Given the description of an element on the screen output the (x, y) to click on. 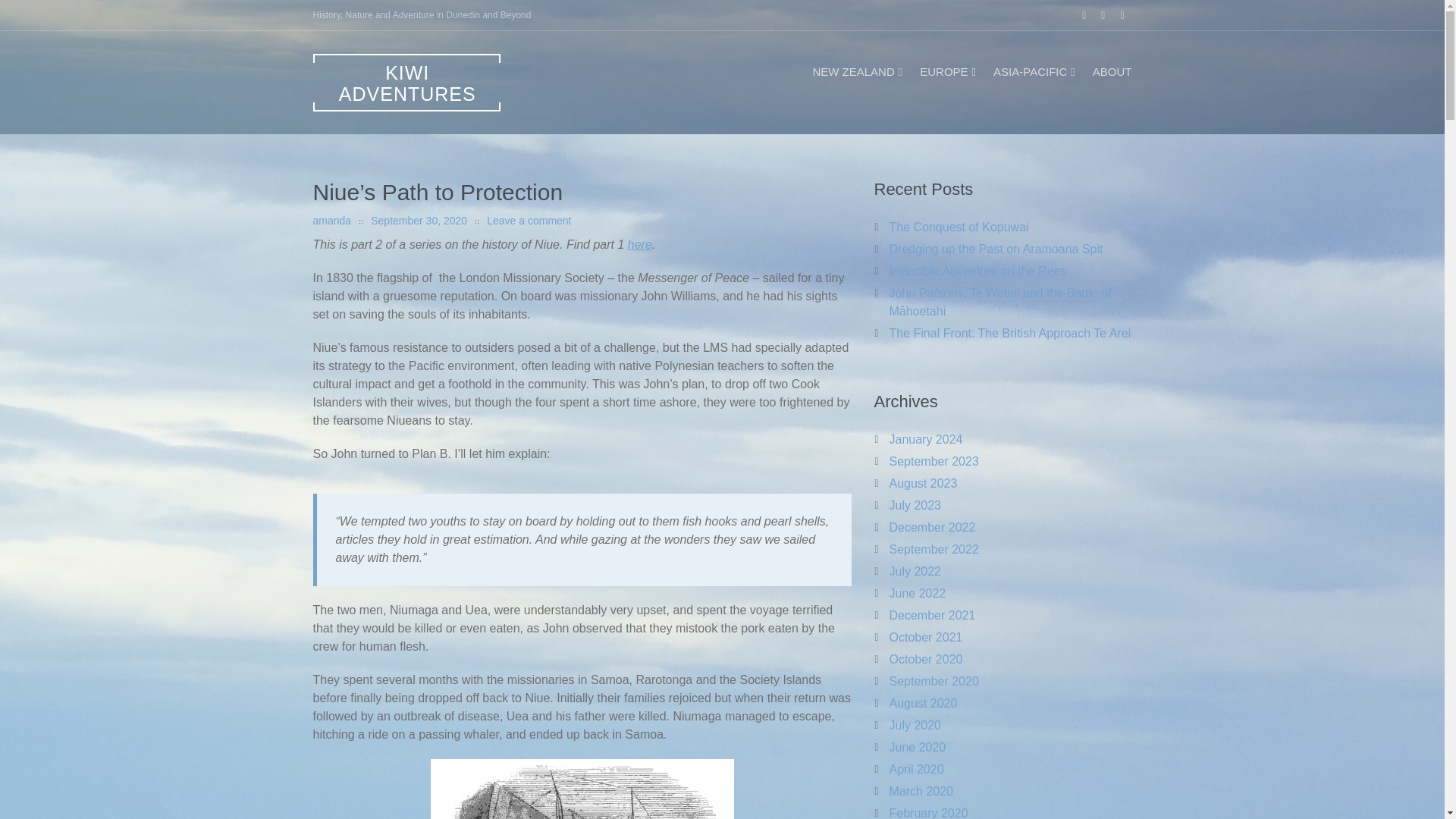
amanda (331, 220)
ABOUT (1112, 72)
KIWI ADVENTURES (406, 82)
NEW ZEALAND (858, 72)
September 30, 2020 (419, 220)
here (639, 244)
Leave a comment (528, 220)
EUROPE (949, 72)
ASIA-PACIFIC (1034, 72)
